Given the description of an element on the screen output the (x, y) to click on. 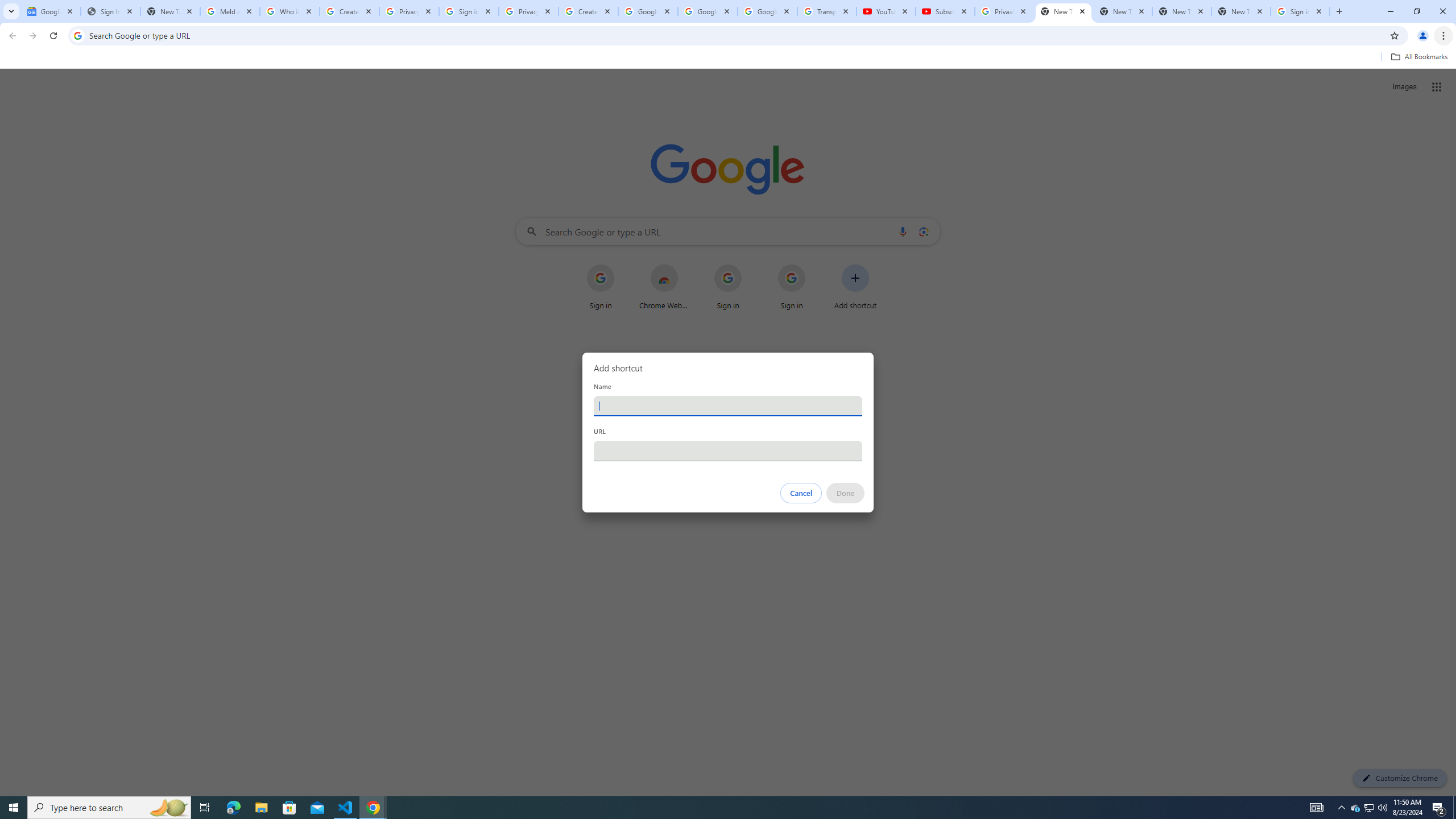
Sign in - Google Accounts (468, 11)
Cancel (801, 493)
Create your Google Account (349, 11)
Name (727, 405)
Who is my administrator? - Google Account Help (289, 11)
